Given the description of an element on the screen output the (x, y) to click on. 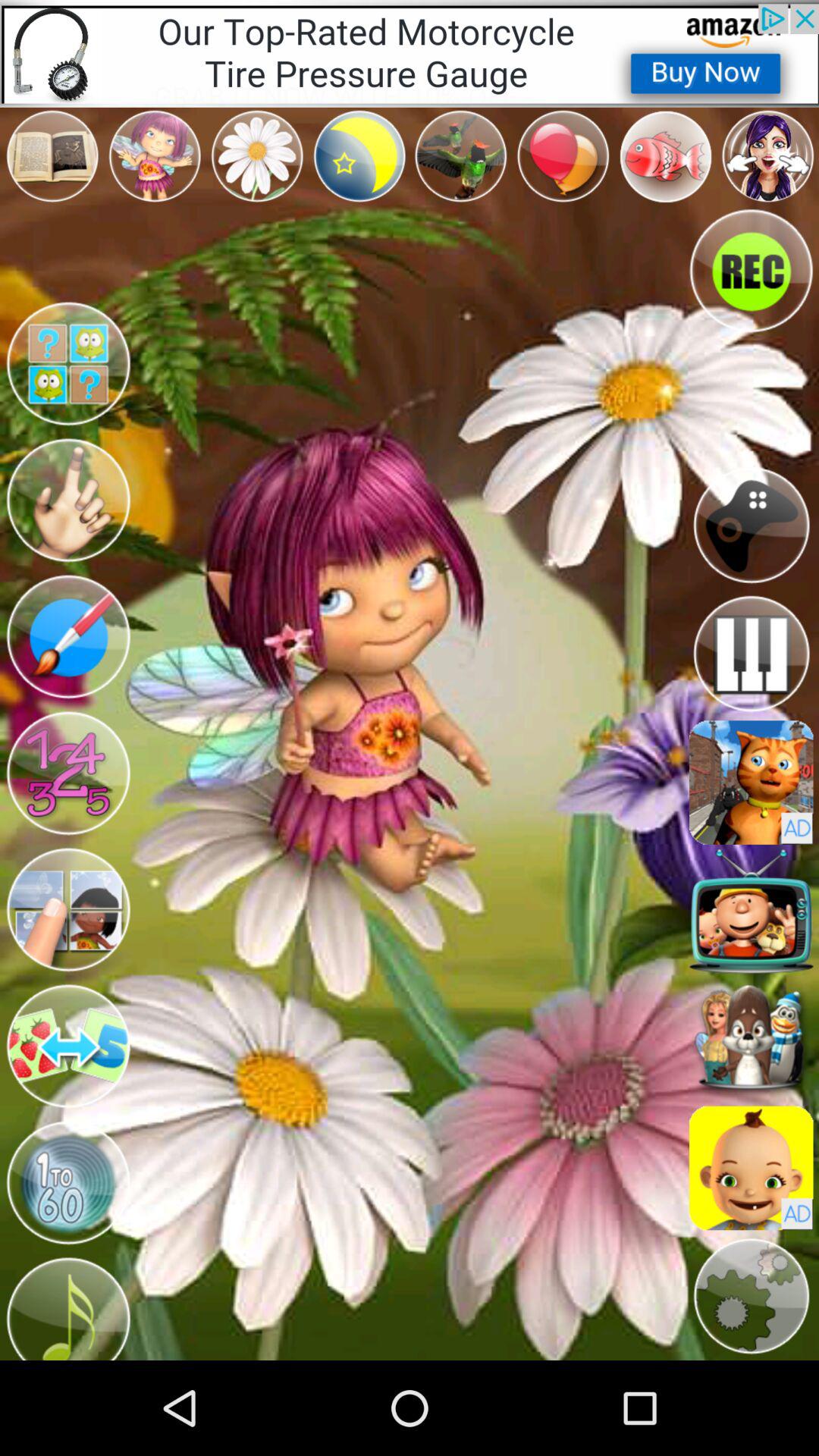
numbers switch option (68, 773)
